Given the description of an element on the screen output the (x, y) to click on. 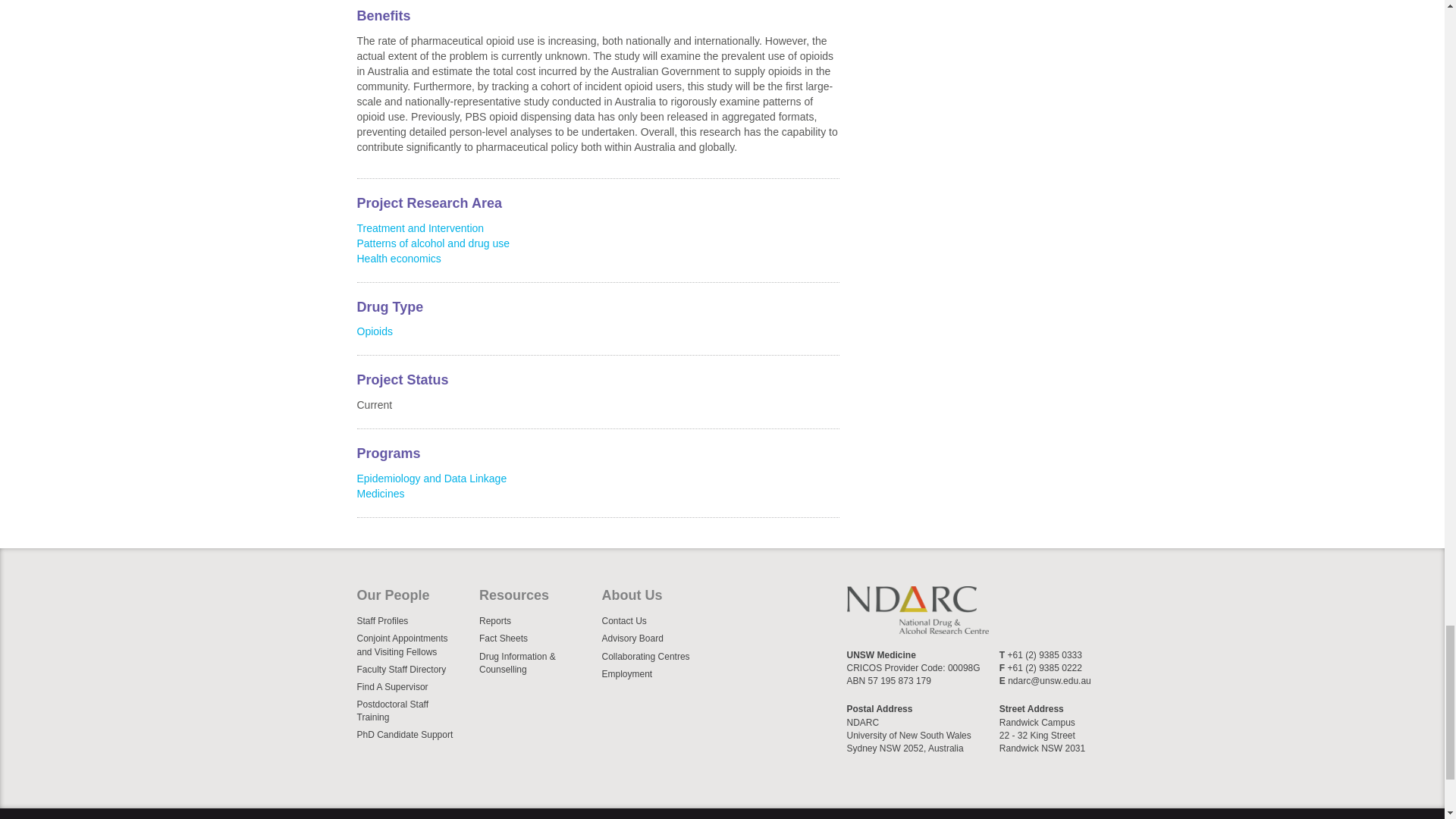
Our People (413, 599)
Conjoint Appointments and Visiting Fellows (413, 644)
NDARC Staff Profiles (413, 620)
